Given the description of an element on the screen output the (x, y) to click on. 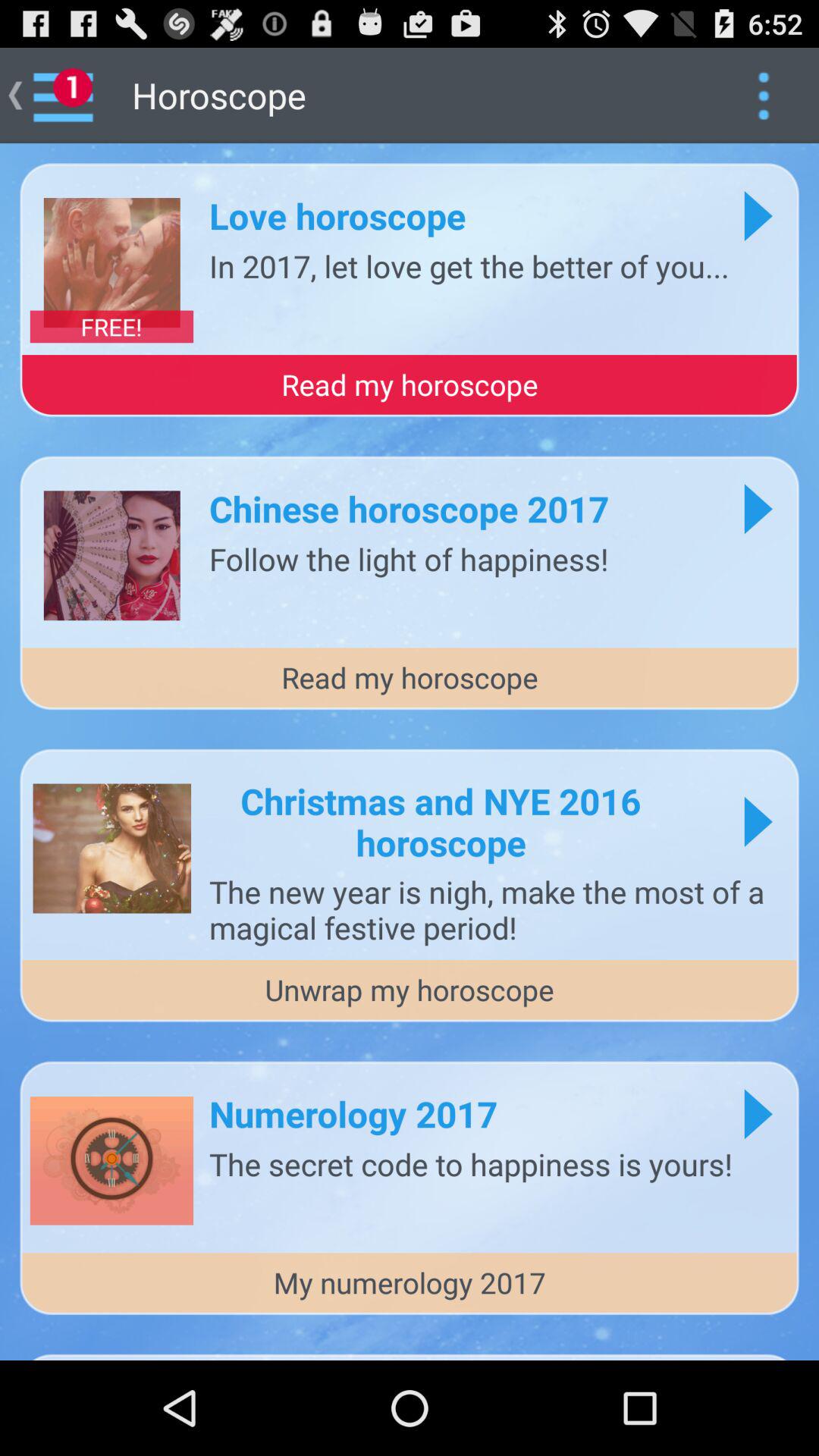
jump to christmas and nye (440, 821)
